Given the description of an element on the screen output the (x, y) to click on. 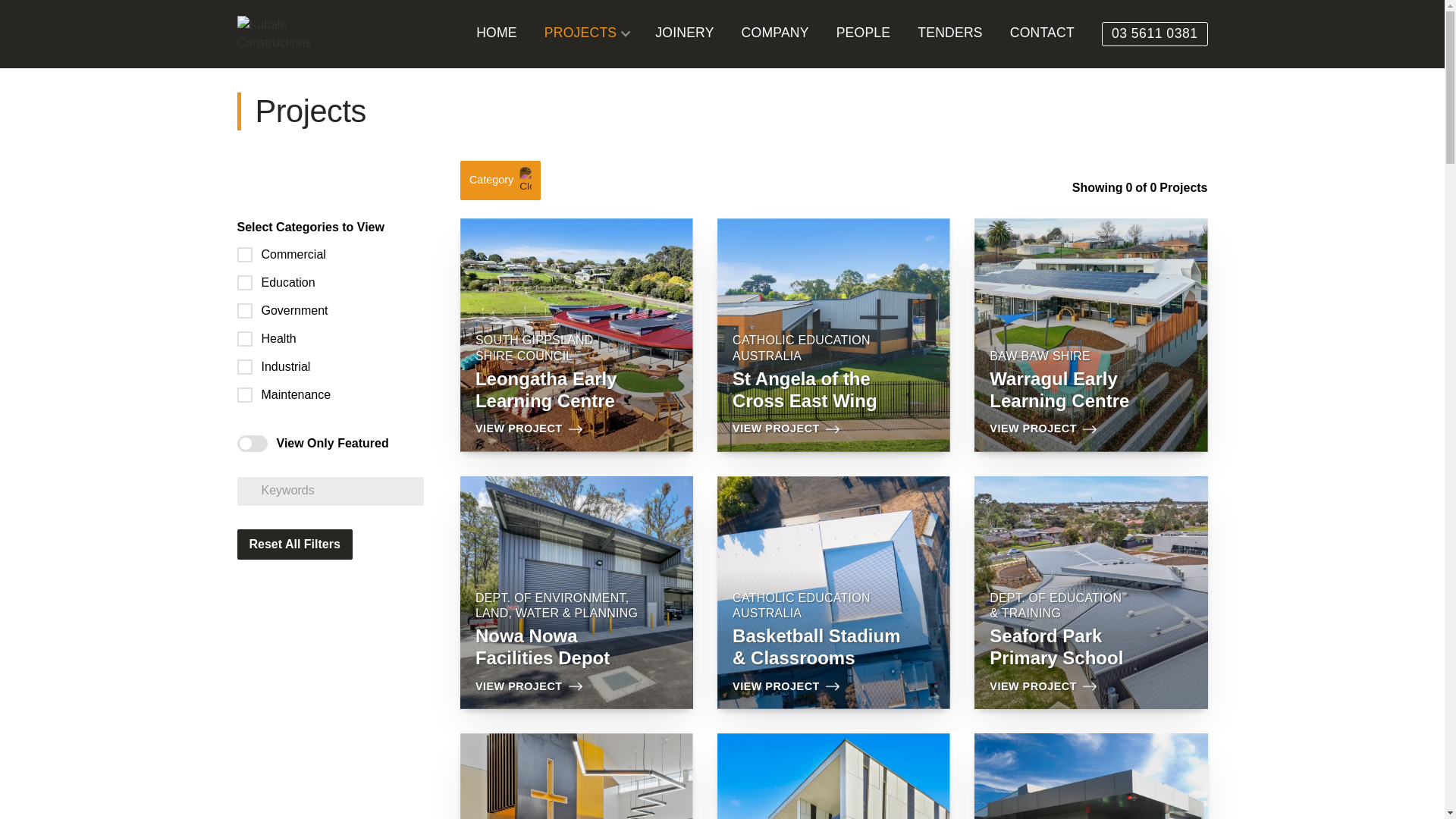
PEOPLE Element type: text (863, 34)
JOINERY Element type: text (684, 34)
CONTACT Element type: text (1042, 34)
PROJECTS Element type: text (580, 32)
TENDERS Element type: text (949, 34)
COMPANY Element type: text (775, 34)
03 5611 0381 Element type: text (1154, 33)
HOME Element type: text (496, 34)
BAW BAW SHIRE
Warragul Early Learning Centre
VIEW PROJECT Element type: text (1090, 334)
Reset All Filters Element type: text (293, 545)
